Given the description of an element on the screen output the (x, y) to click on. 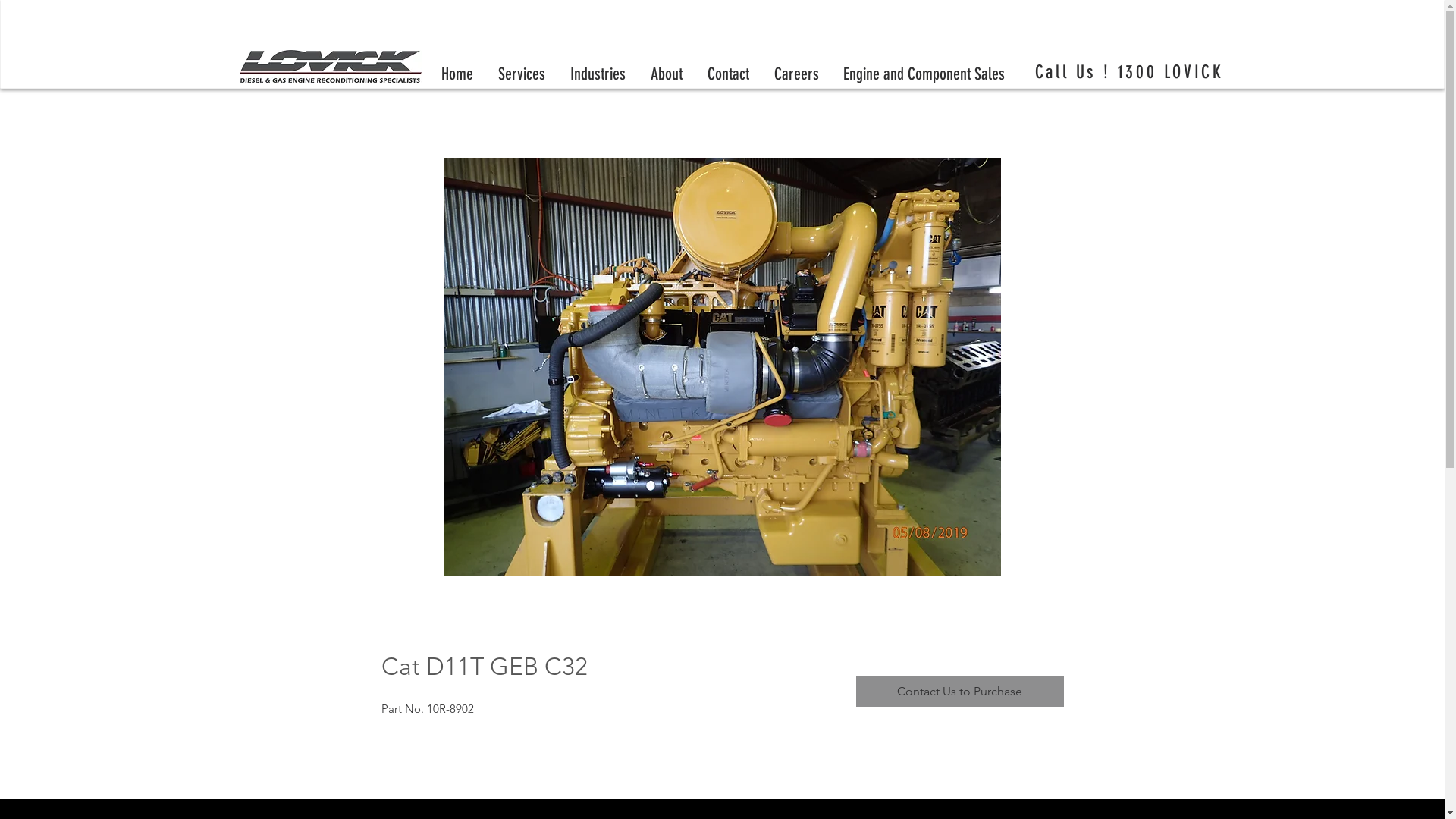
About Element type: text (666, 72)
Services Element type: text (521, 72)
Call Us ! 1300 LOVICK Element type: text (1129, 71)
Industries Element type: text (598, 72)
Engine and Component Sales Element type: text (923, 72)
Contact Element type: text (727, 72)
Contact Us to Purchase Element type: text (959, 691)
Careers Element type: text (795, 72)
Home Element type: text (457, 72)
